Given the description of an element on the screen output the (x, y) to click on. 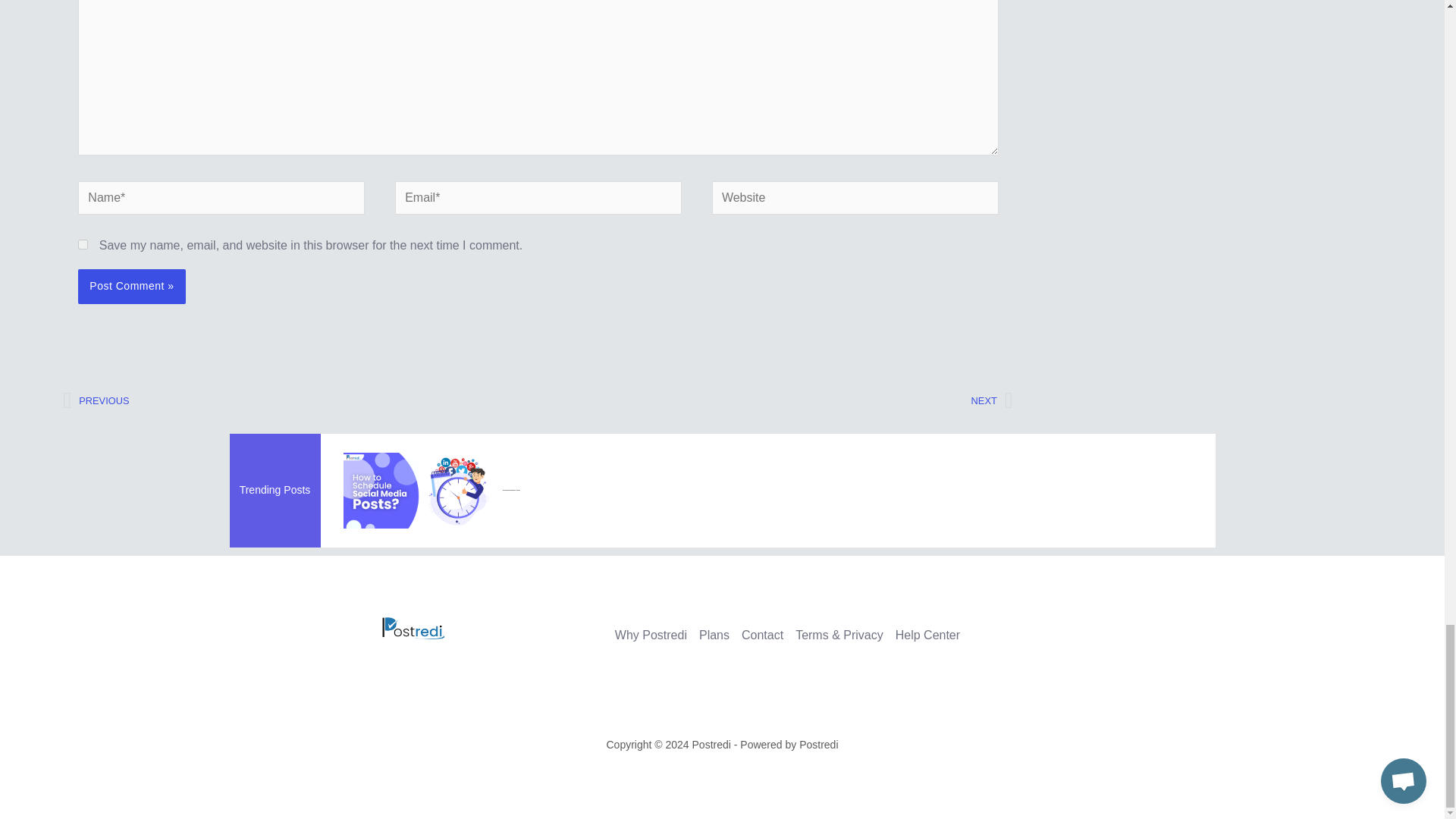
yes (775, 401)
